Given the description of an element on the screen output the (x, y) to click on. 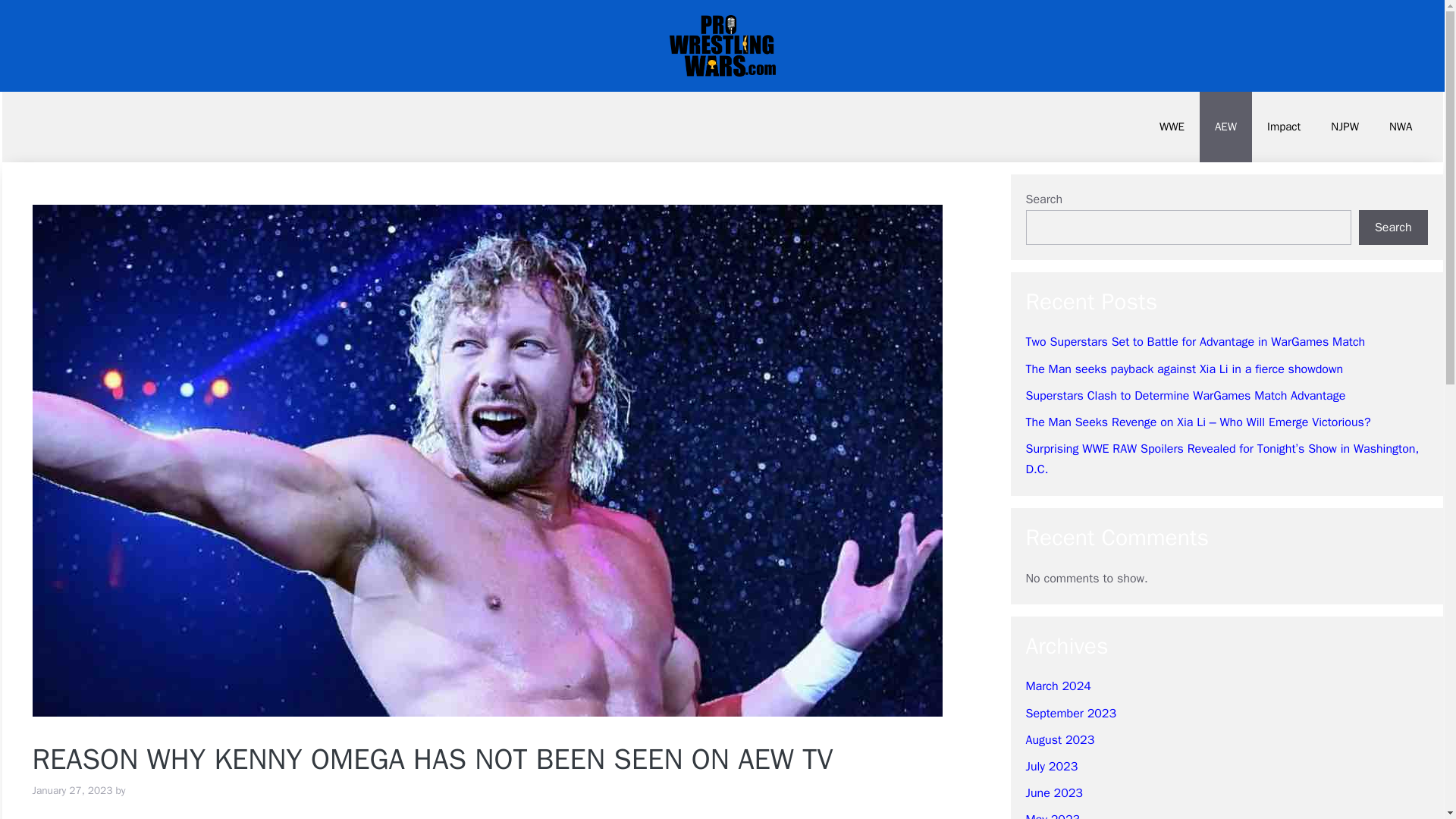
Superstars Clash to Determine WarGames Match Advantage (1185, 395)
March 2024 (1057, 685)
May 2023 (1052, 815)
June 2023 (1053, 792)
The Man seeks payback against Xia Li in a fierce showdown (1183, 368)
Impact (1284, 126)
Search (1393, 226)
September 2023 (1070, 712)
July 2023 (1051, 766)
August 2023 (1059, 739)
Two Superstars Set to Battle for Advantage in WarGames Match (1195, 341)
